Given the description of an element on the screen output the (x, y) to click on. 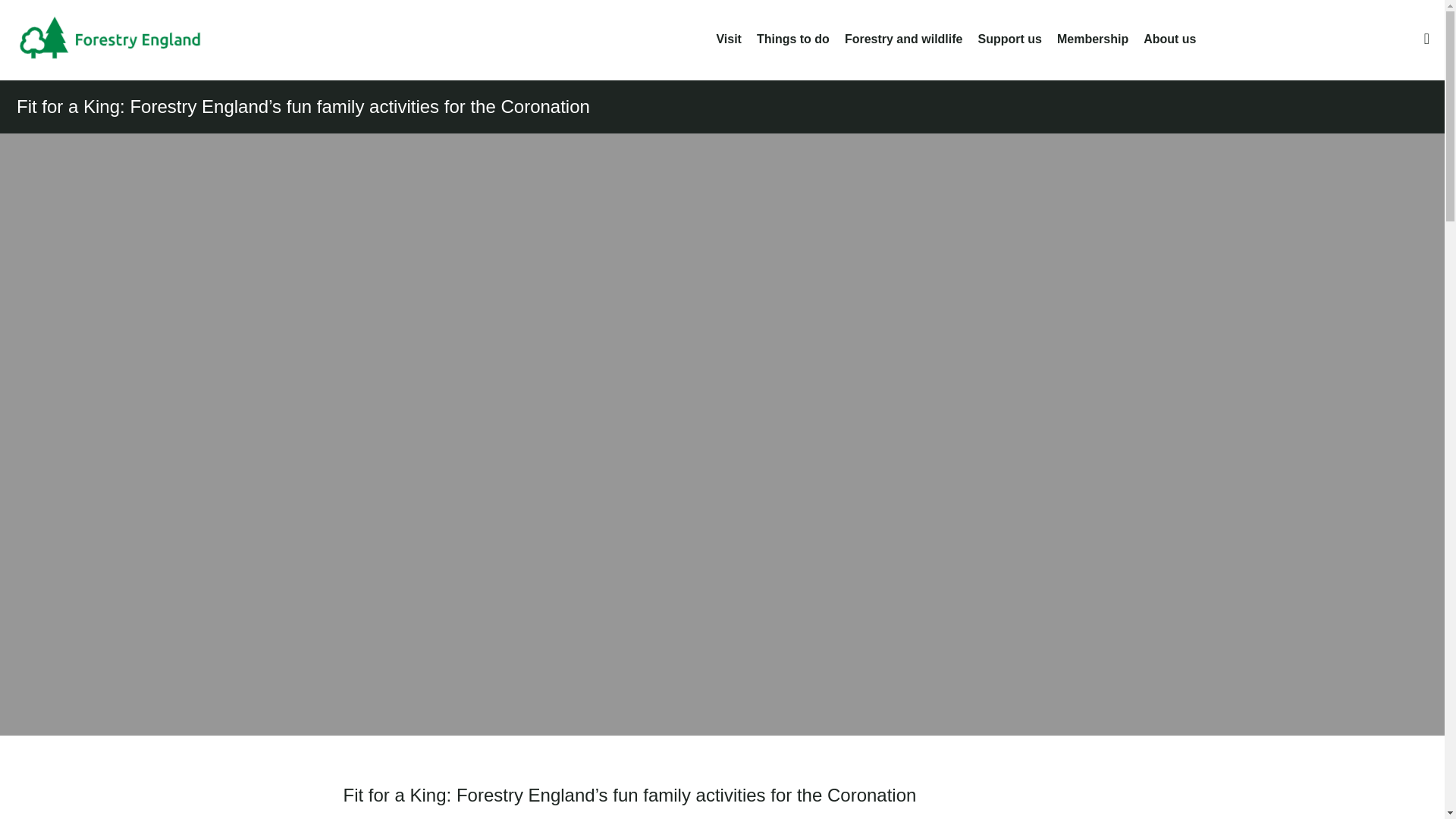
Home (120, 40)
Things to do (793, 38)
Visit (728, 38)
Forestry and wildlife (903, 38)
